Given the description of an element on the screen output the (x, y) to click on. 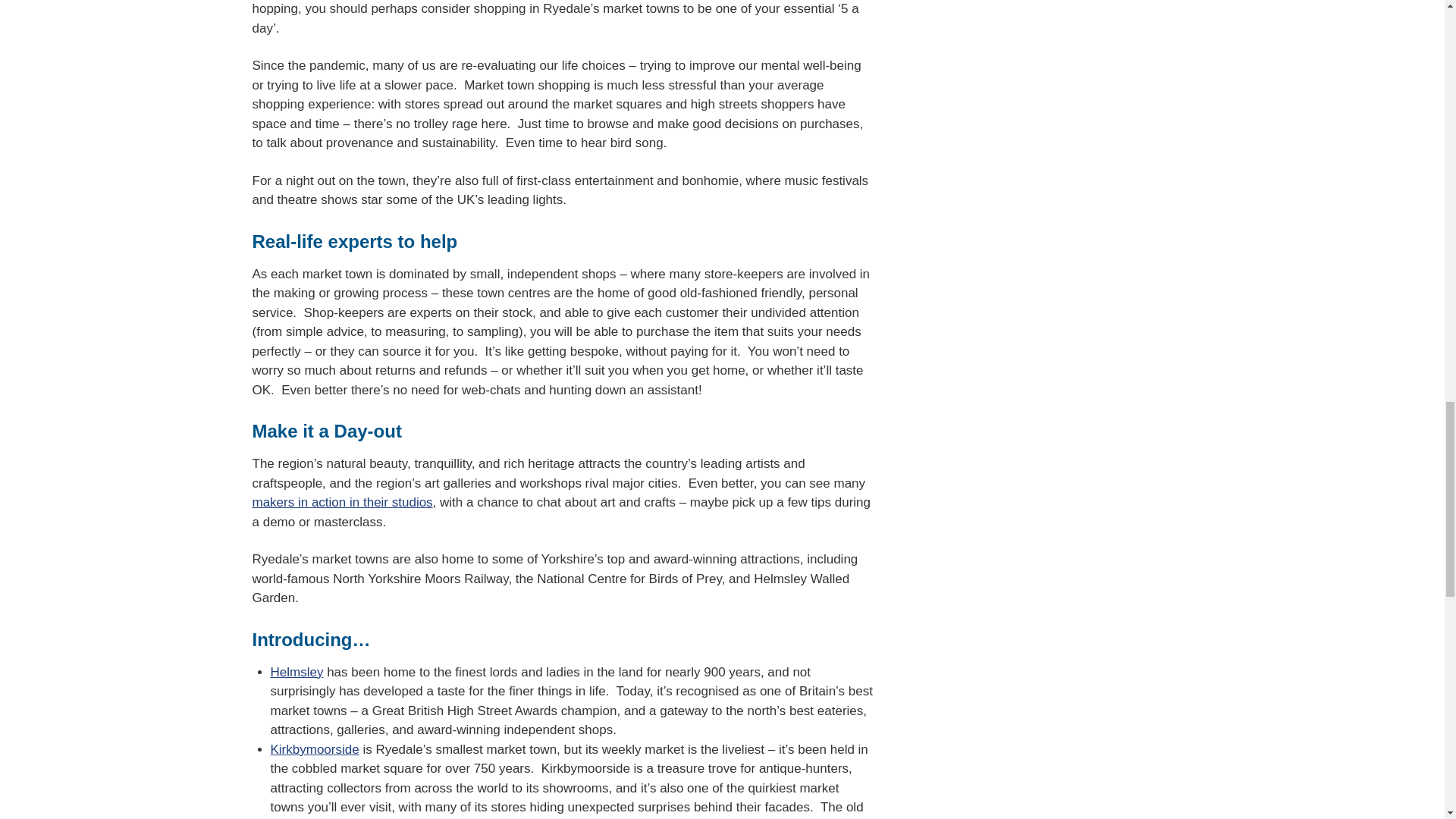
Helmsley (296, 672)
makers in action in their studios (341, 502)
Kirkbymoorside (313, 750)
